Given the description of an element on the screen output the (x, y) to click on. 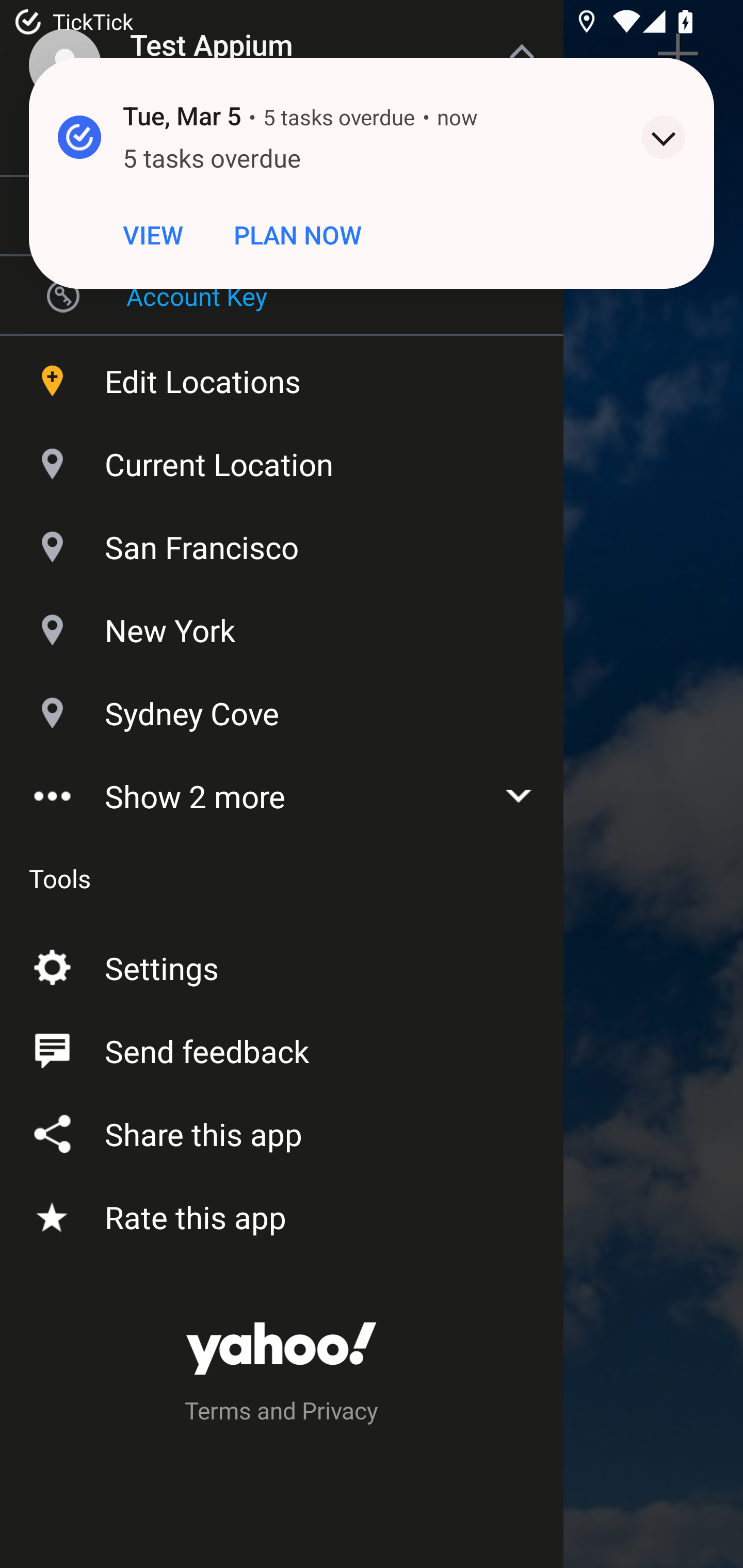
Edit Locations (281, 376)
Current Location (281, 459)
San Francisco (281, 542)
New York (281, 625)
Sydney Cove (281, 709)
Settings (281, 963)
Send feedback (281, 1046)
Share this app (281, 1129)
Terms and Privacy Terms and privacy button (281, 1413)
